Given the description of an element on the screen output the (x, y) to click on. 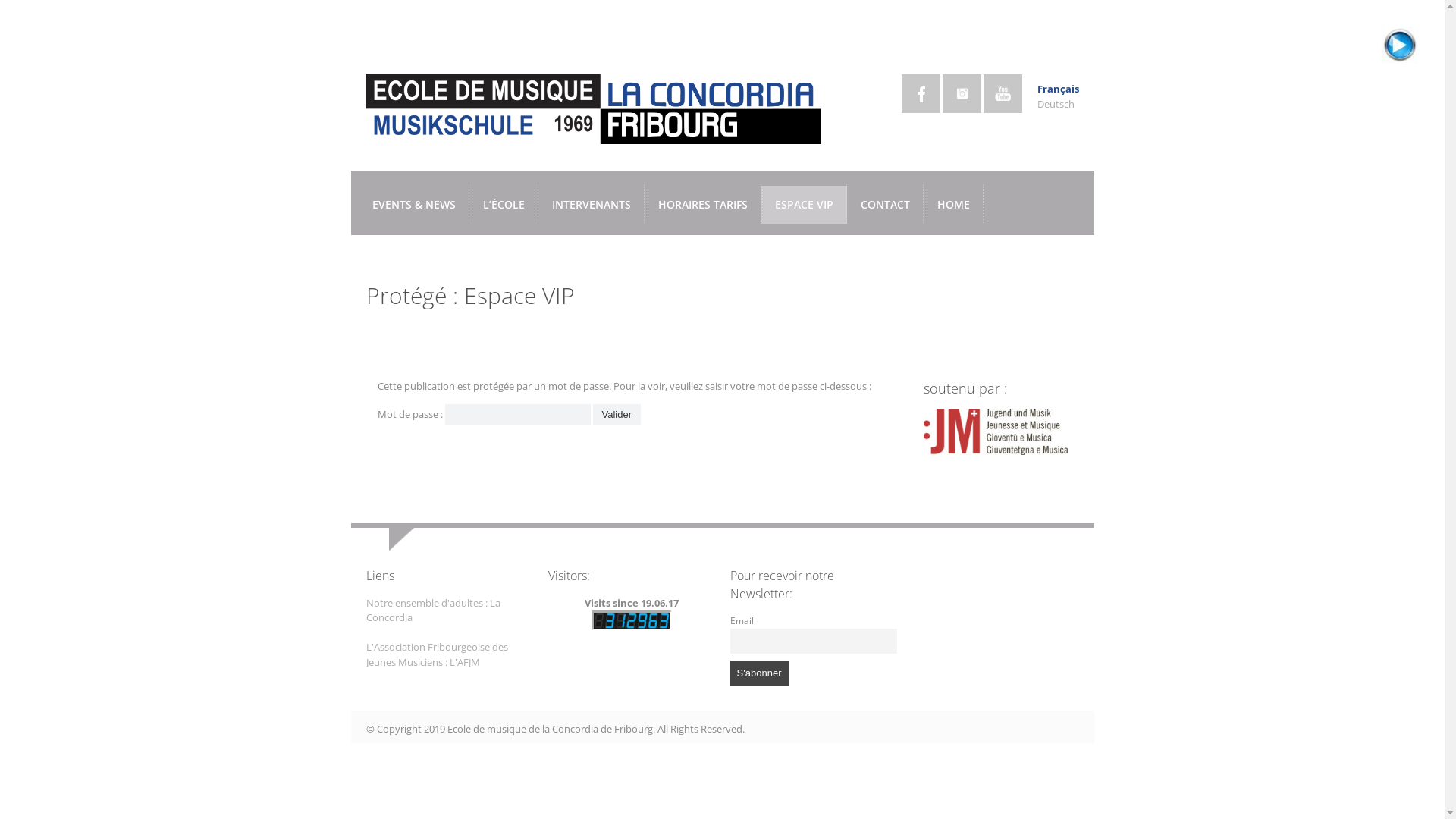
Notre ensemble d'adultes : La Concordia Element type: text (432, 610)
CONTACT Element type: text (884, 204)
S'abonner Element type: text (758, 672)
INTERVENANTS Element type: text (591, 204)
Ecole de musique de La Concordia de Fribourg et ses cadets Element type: hover (592, 136)
HORAIRES TARIFS Element type: text (702, 204)
YouTube Element type: text (1001, 93)
EVENTS & NEWS Element type: text (412, 204)
ESPACE VIP Element type: text (804, 204)
Instagram Element type: text (960, 93)
L'Association Fribourgeoise des Jeunes Musiciens : L'AFJM Element type: text (436, 654)
Valider Element type: text (617, 413)
Deutsch Element type: text (1055, 103)
HOME Element type: text (953, 204)
Facebook Element type: text (919, 93)
